Given the description of an element on the screen output the (x, y) to click on. 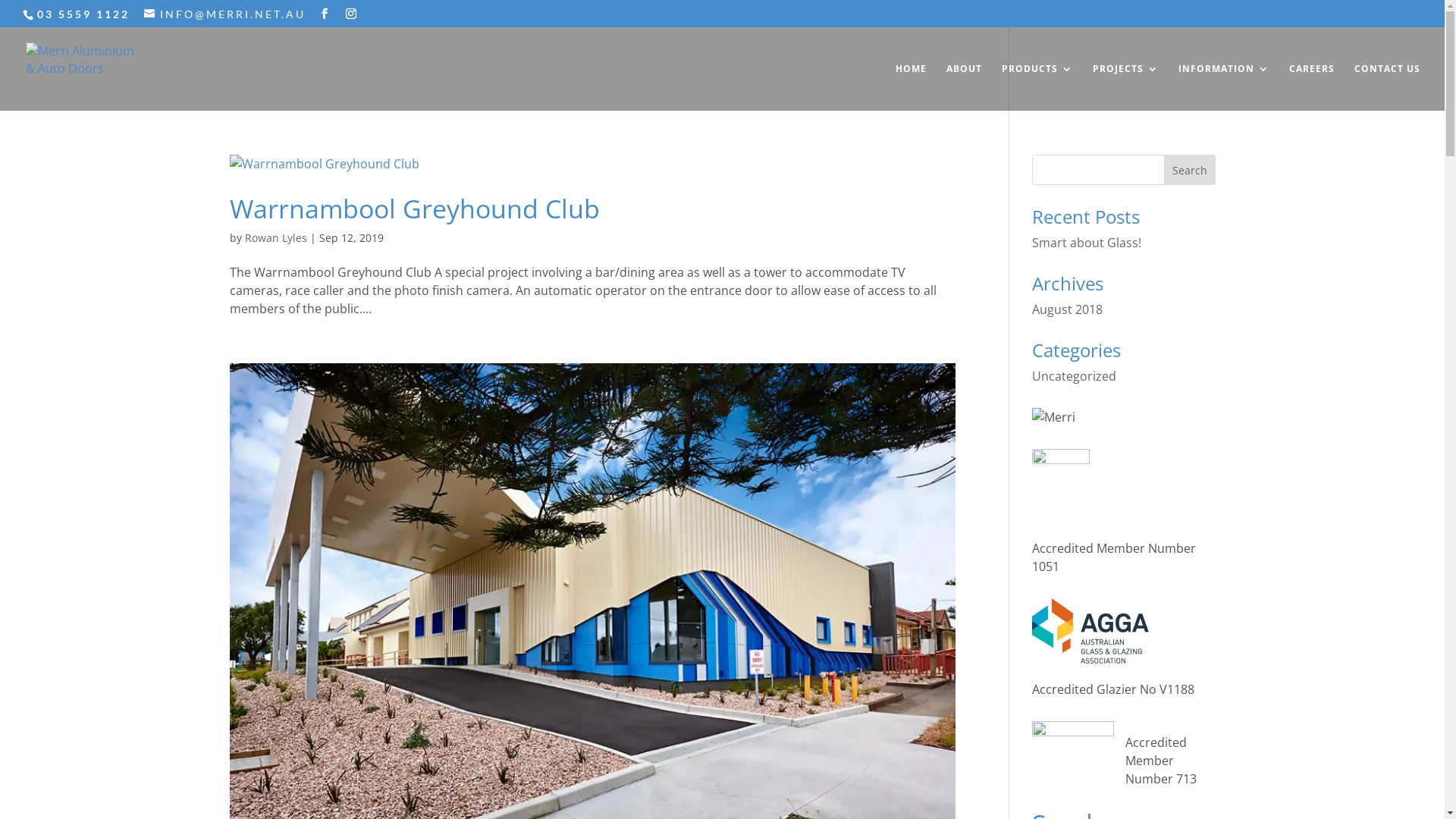
Warrnambool Greyhound Club Element type: text (414, 208)
August 2018 Element type: text (1067, 309)
ABOUT Element type: text (964, 86)
HOME Element type: text (910, 86)
Smart about Glass! Element type: text (1086, 242)
Search Element type: text (1189, 169)
PROJECTS Element type: text (1125, 86)
PRODUCTS Element type: text (1037, 86)
CONTACT US Element type: text (1387, 86)
CAREERS Element type: text (1311, 86)
Uncategorized Element type: text (1074, 375)
INFO@MERRI.NET.AU Element type: text (224, 13)
INFORMATION Element type: text (1223, 86)
Rowan Lyles Element type: text (275, 237)
